Given the description of an element on the screen output the (x, y) to click on. 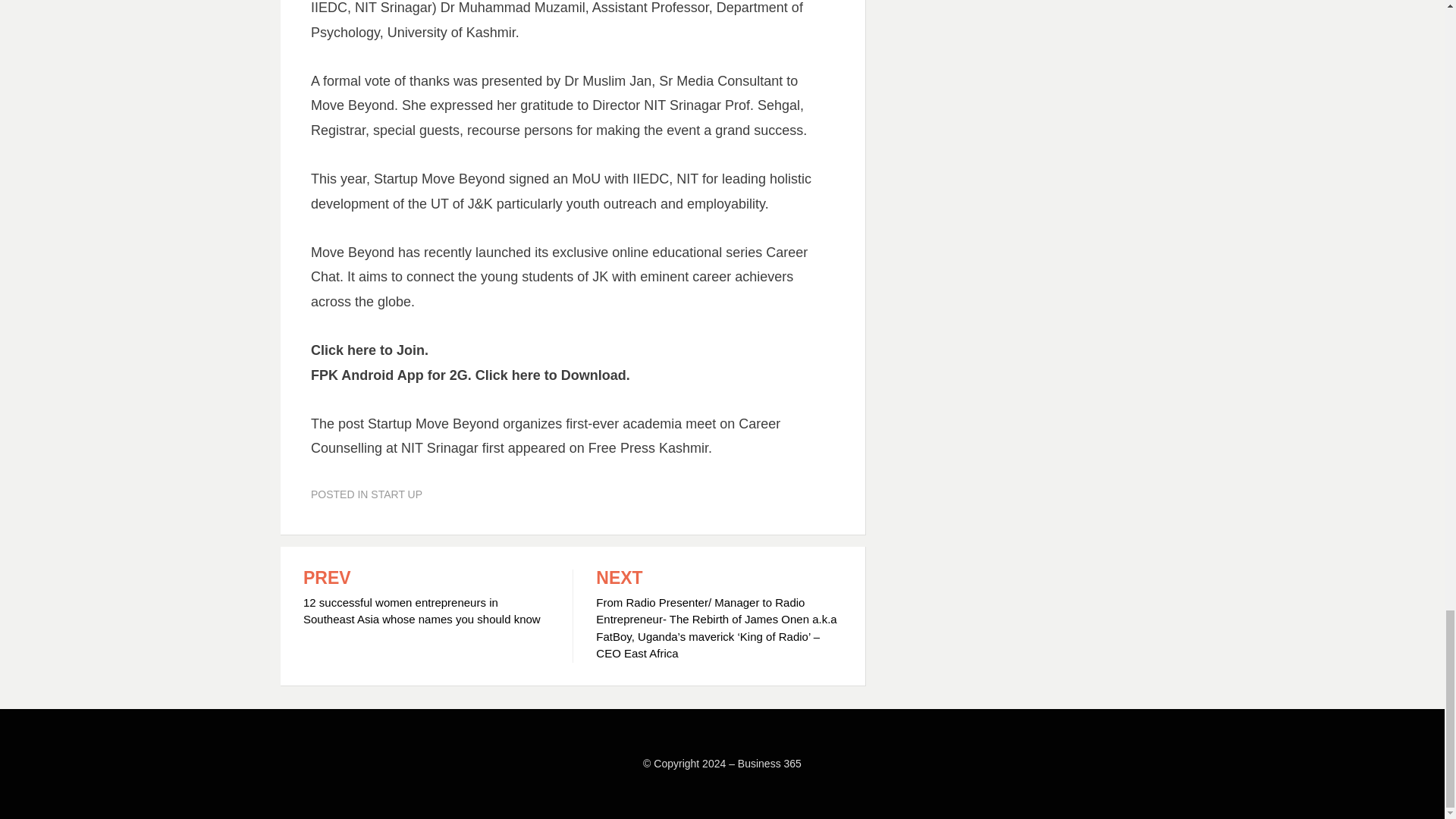
Business 365 (770, 763)
WordPress (511, 784)
SimpleFreeThemes (388, 784)
SimpleFreeThemes (388, 784)
WordPress (511, 784)
START UP (396, 494)
